Given the description of an element on the screen output the (x, y) to click on. 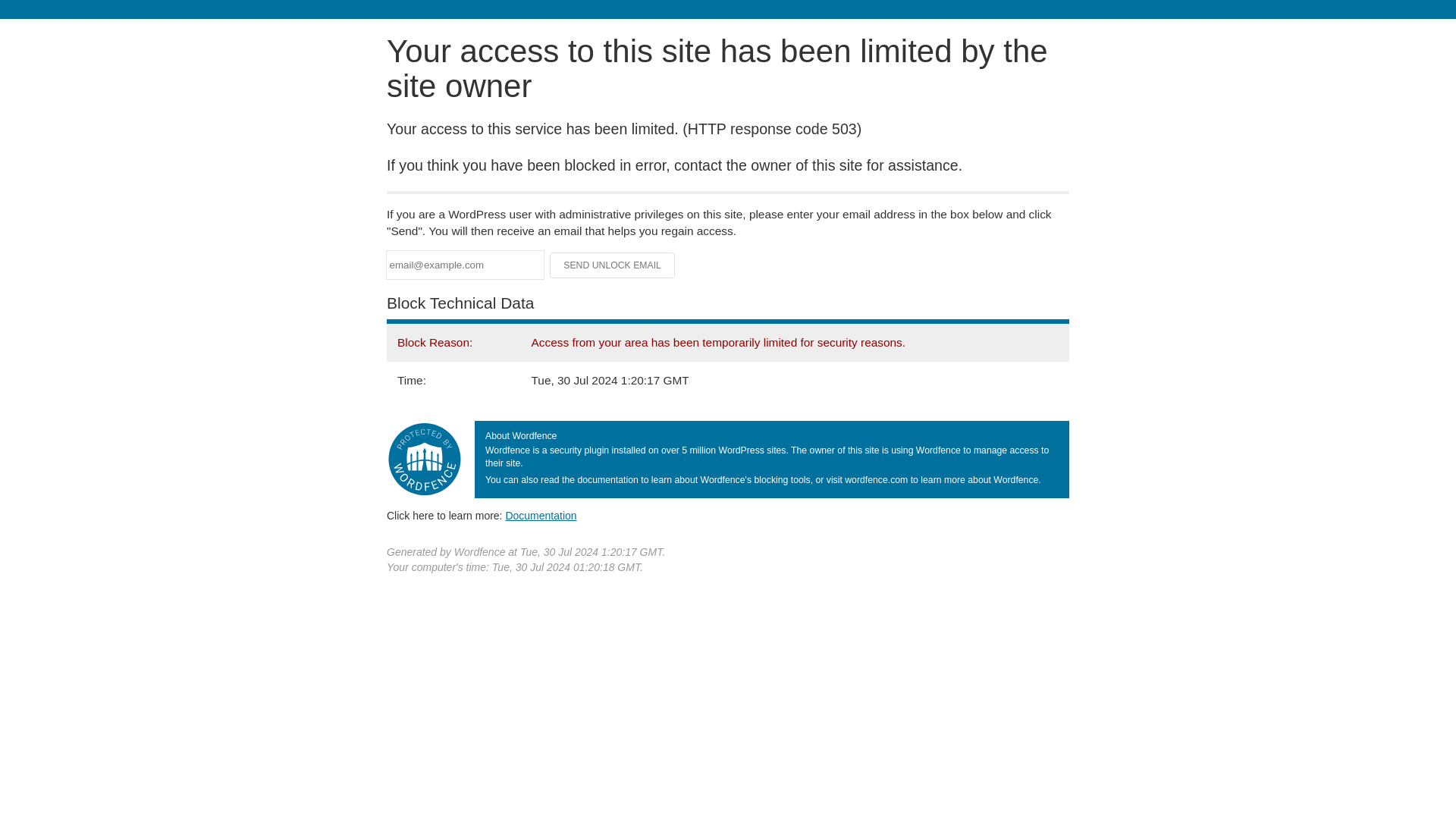
Send Unlock Email (612, 265)
Documentation (540, 515)
Send Unlock Email (612, 265)
